Given the description of an element on the screen output the (x, y) to click on. 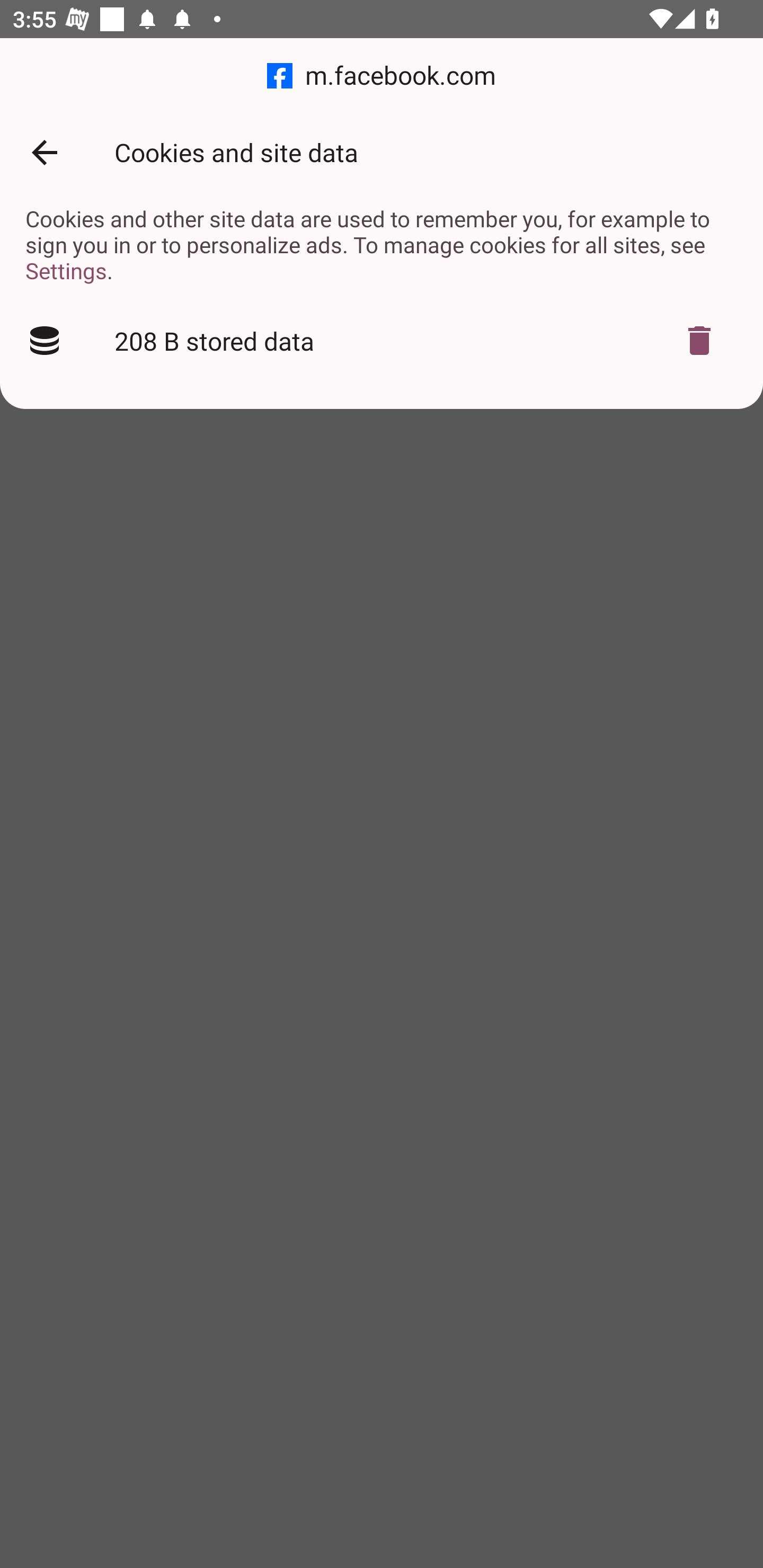
m.facebook.com (381, 75)
Back (44, 152)
208 B stored data Delete cookies? (381, 340)
